Given the description of an element on the screen output the (x, y) to click on. 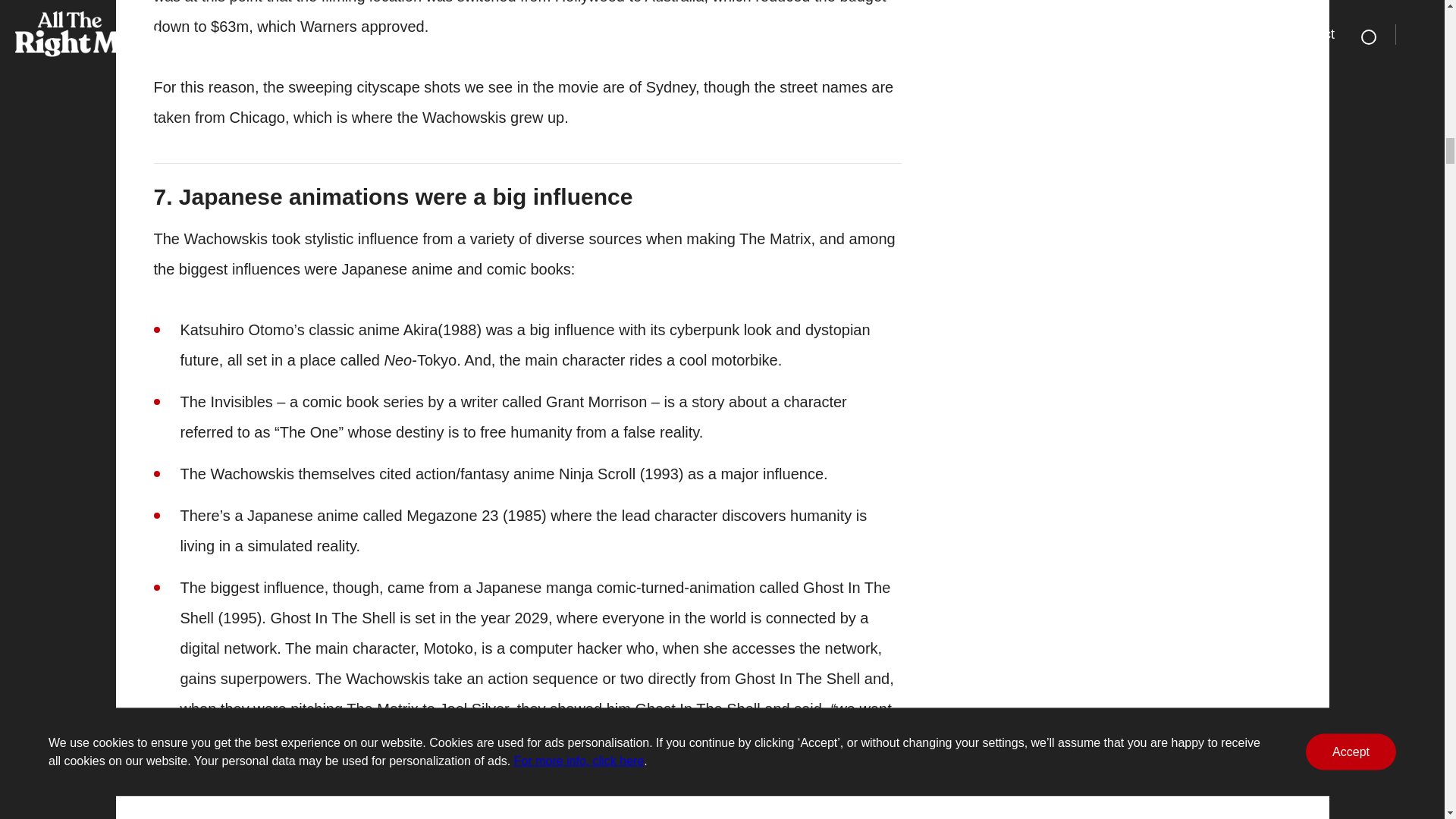
The Matrix Copied Ghost In The Shell!! (395, 794)
